Given the description of an element on the screen output the (x, y) to click on. 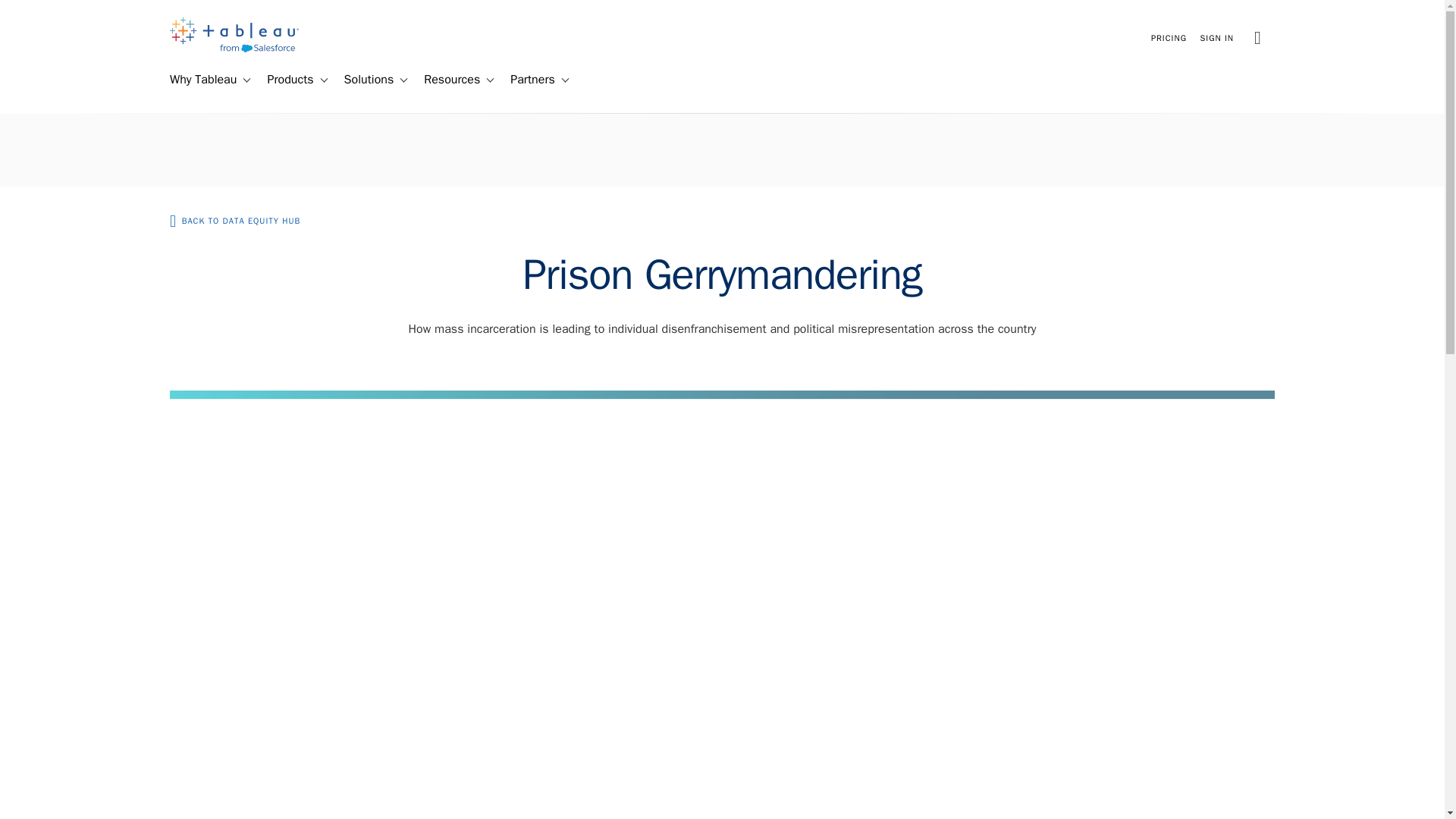
Products (283, 79)
Solutions (362, 79)
Why Tableau (196, 79)
Return to the Tableau Software home page (234, 48)
